Given the description of an element on the screen output the (x, y) to click on. 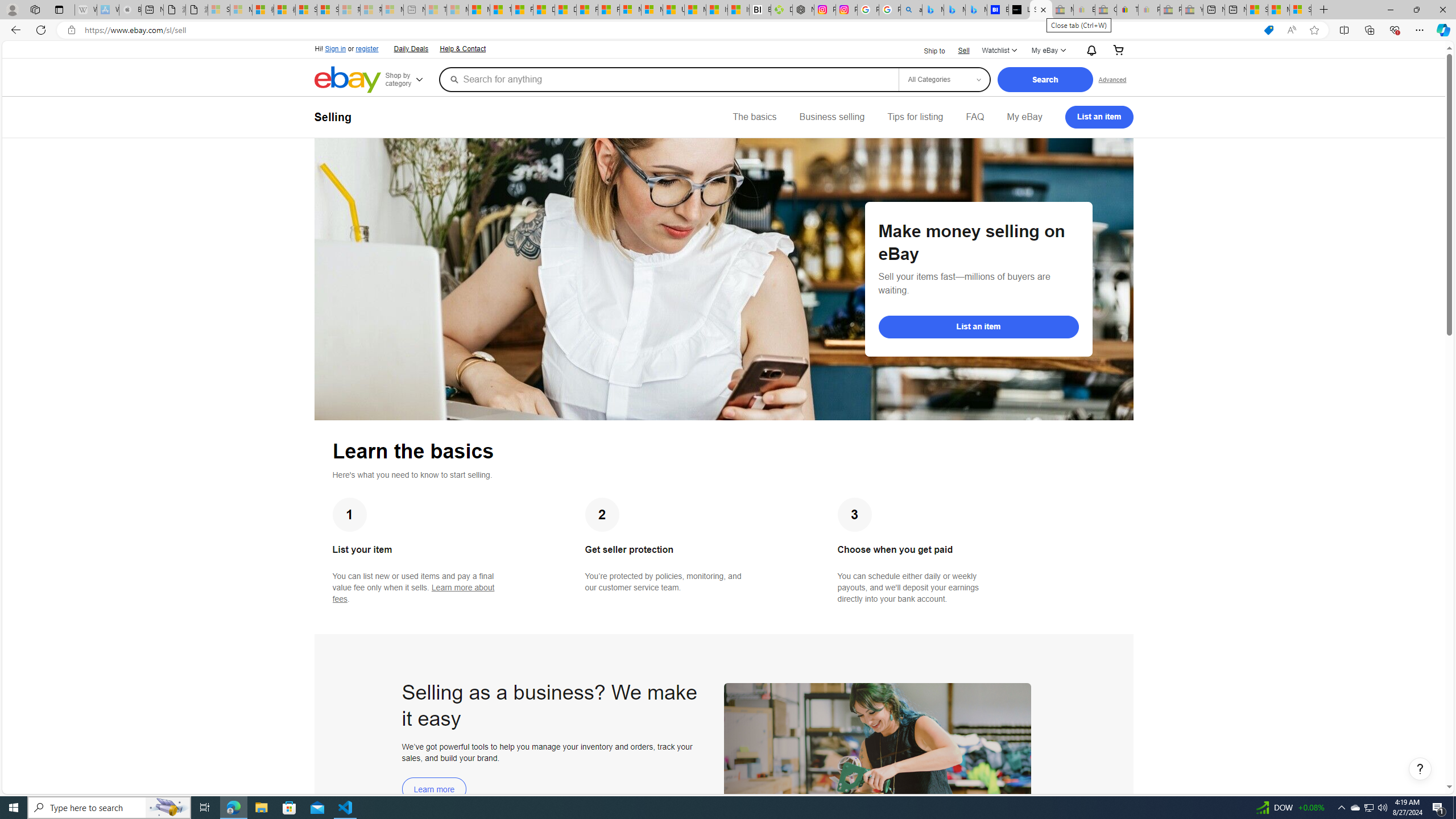
Ship to (927, 49)
